Given the description of an element on the screen output the (x, y) to click on. 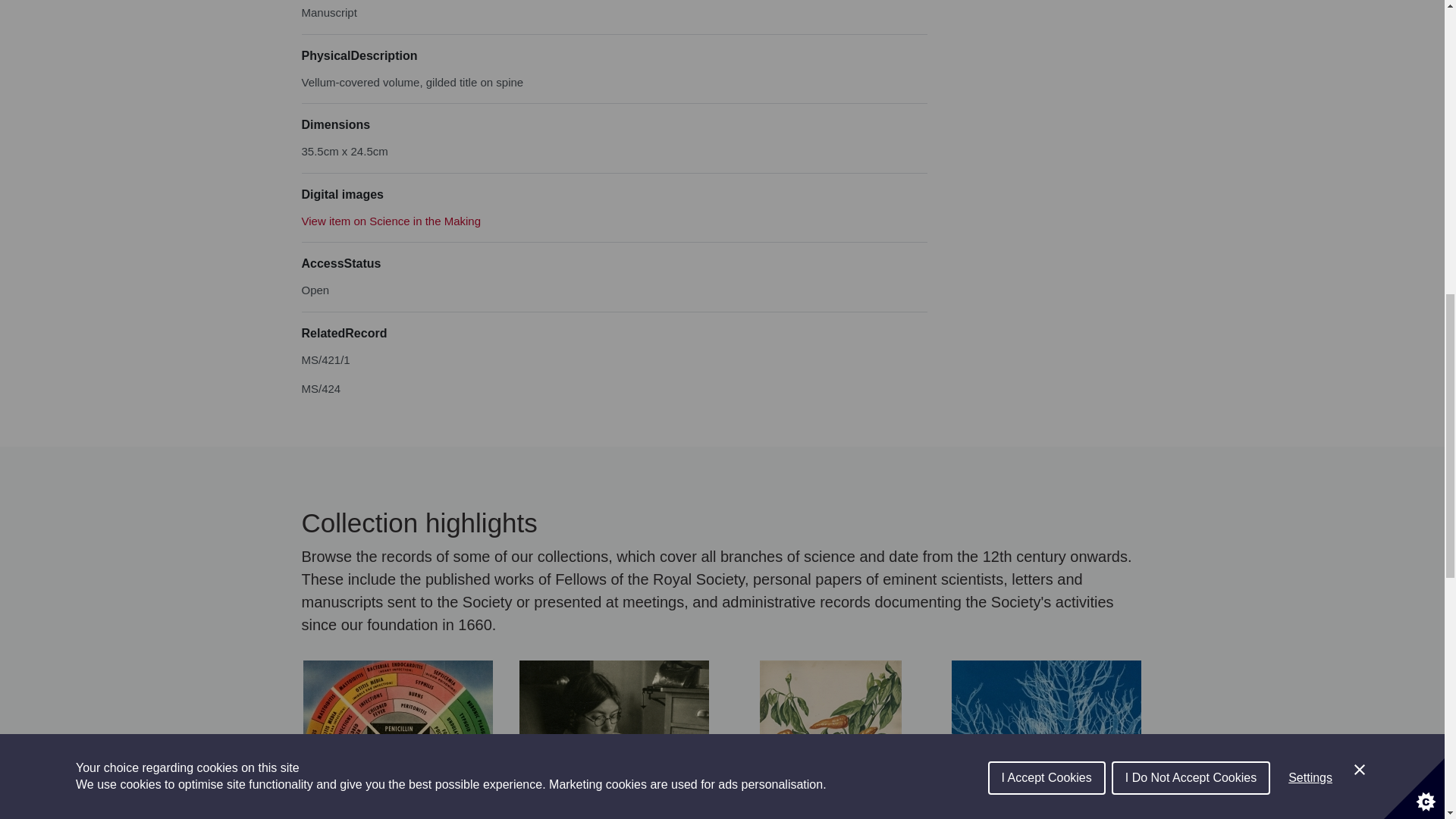
I Do Not Accept Cookies (1190, 17)
View item on Science in the Making (391, 220)
Papers of Elsie Widdowson and Robert McCance (613, 739)
Papers of Howard Florey (398, 739)
Photographs of British algae: cyanotype impressions (1045, 739)
I Accept Cookies (1046, 24)
Settings (1309, 8)
